Given the description of an element on the screen output the (x, y) to click on. 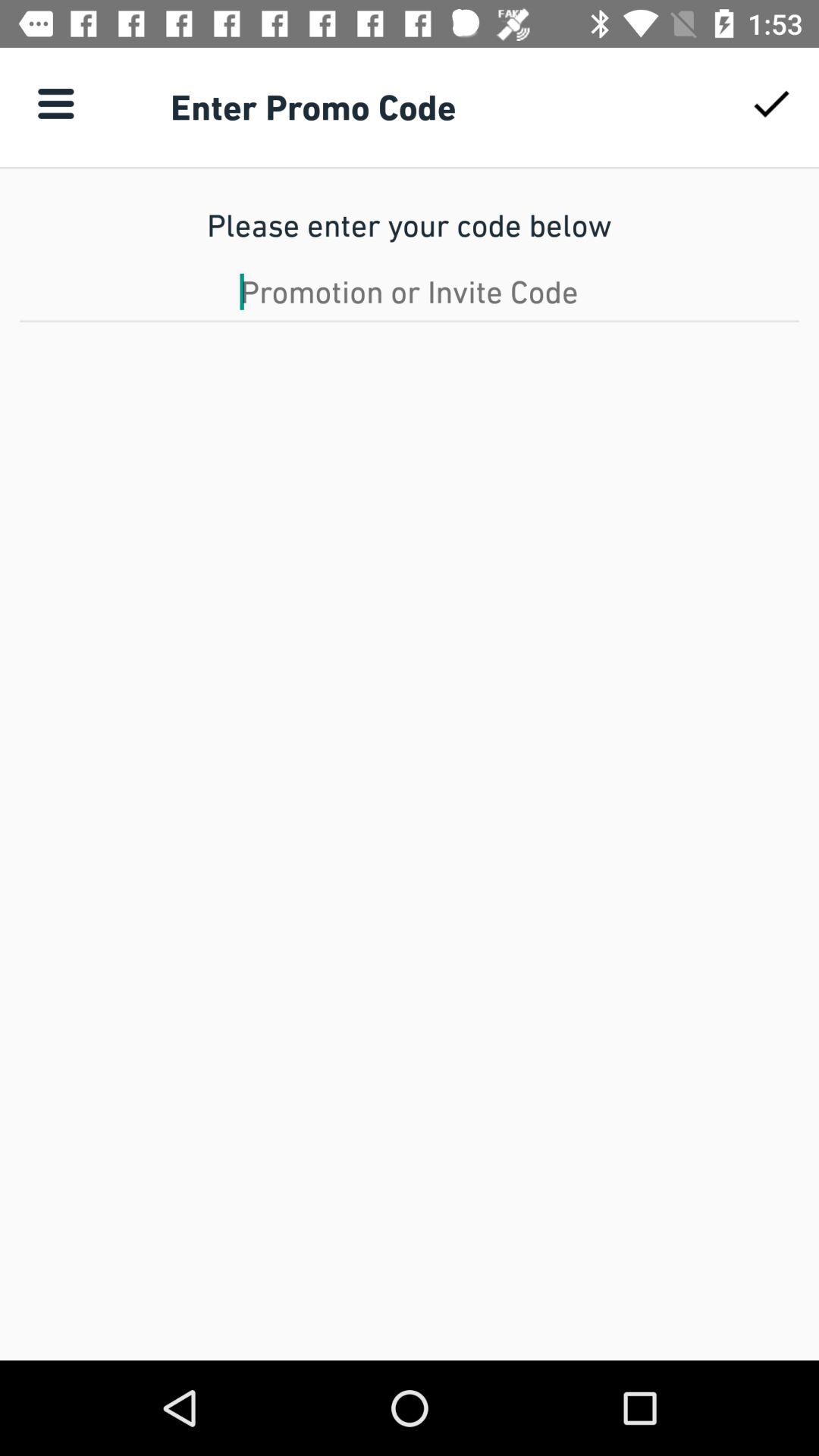
turn on item at the top right corner (771, 103)
